Given the description of an element on the screen output the (x, y) to click on. 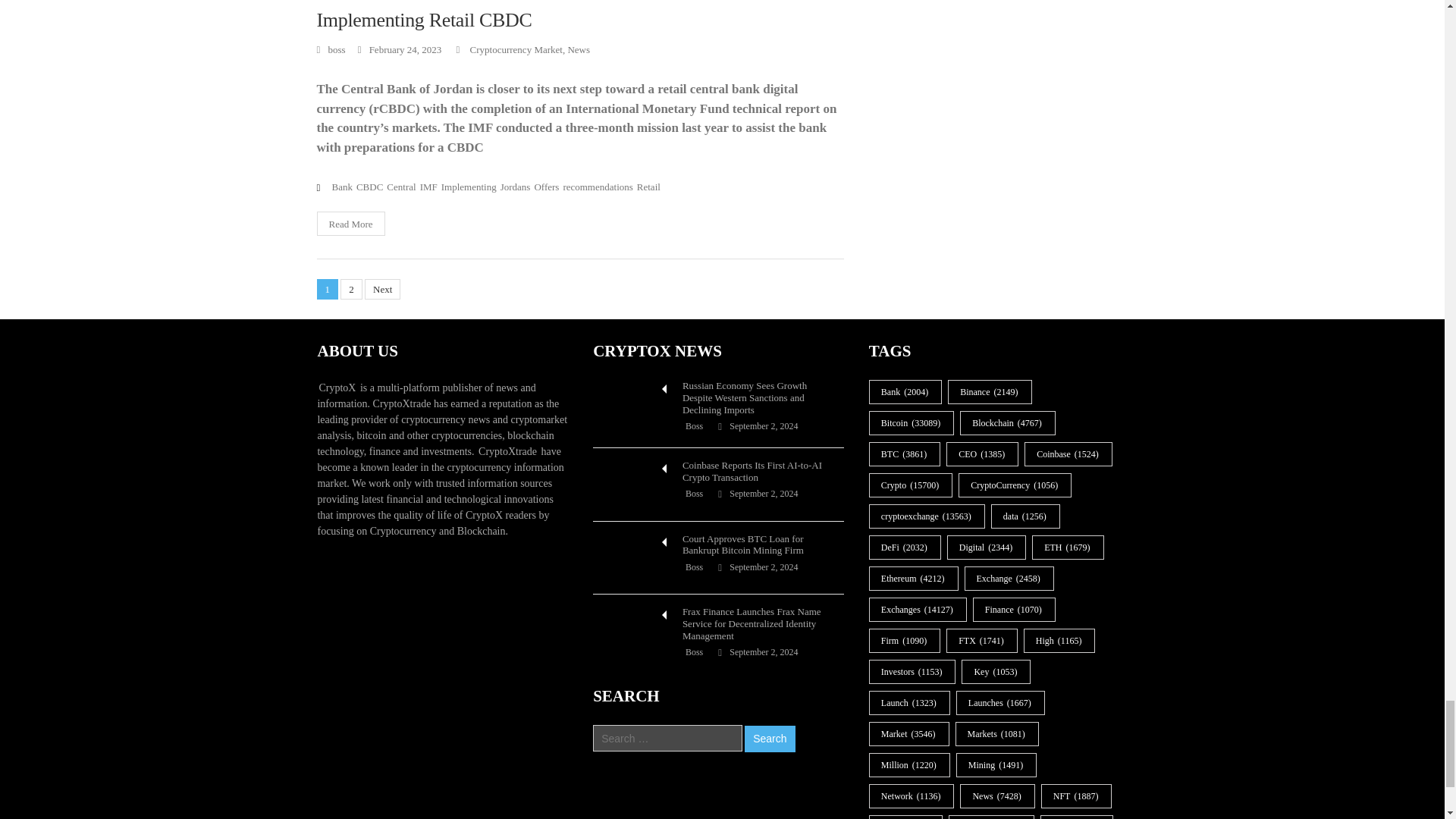
Search (769, 738)
Search (769, 738)
